Given the description of an element on the screen output the (x, y) to click on. 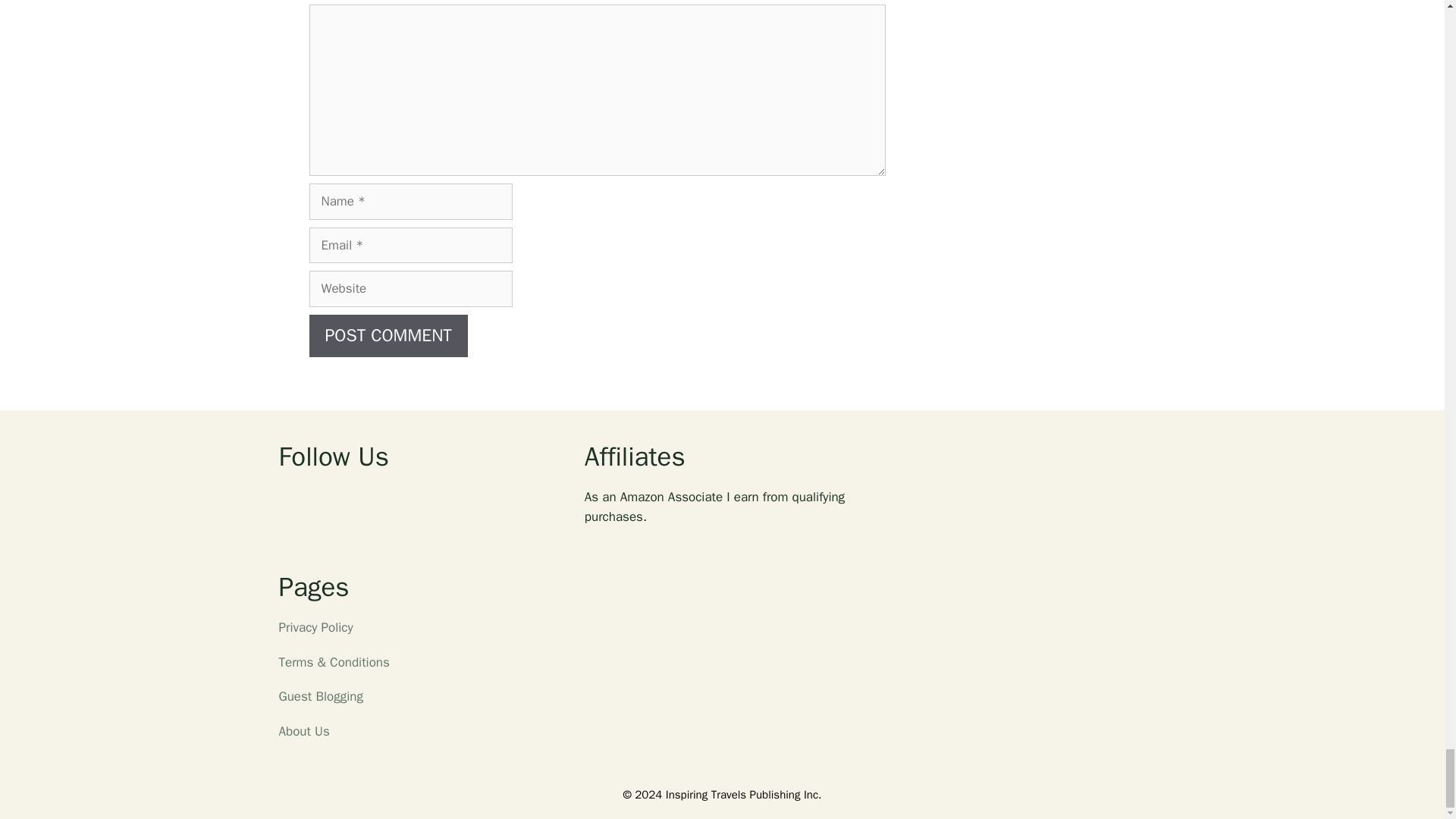
Post Comment (387, 335)
